Given the description of an element on the screen output the (x, y) to click on. 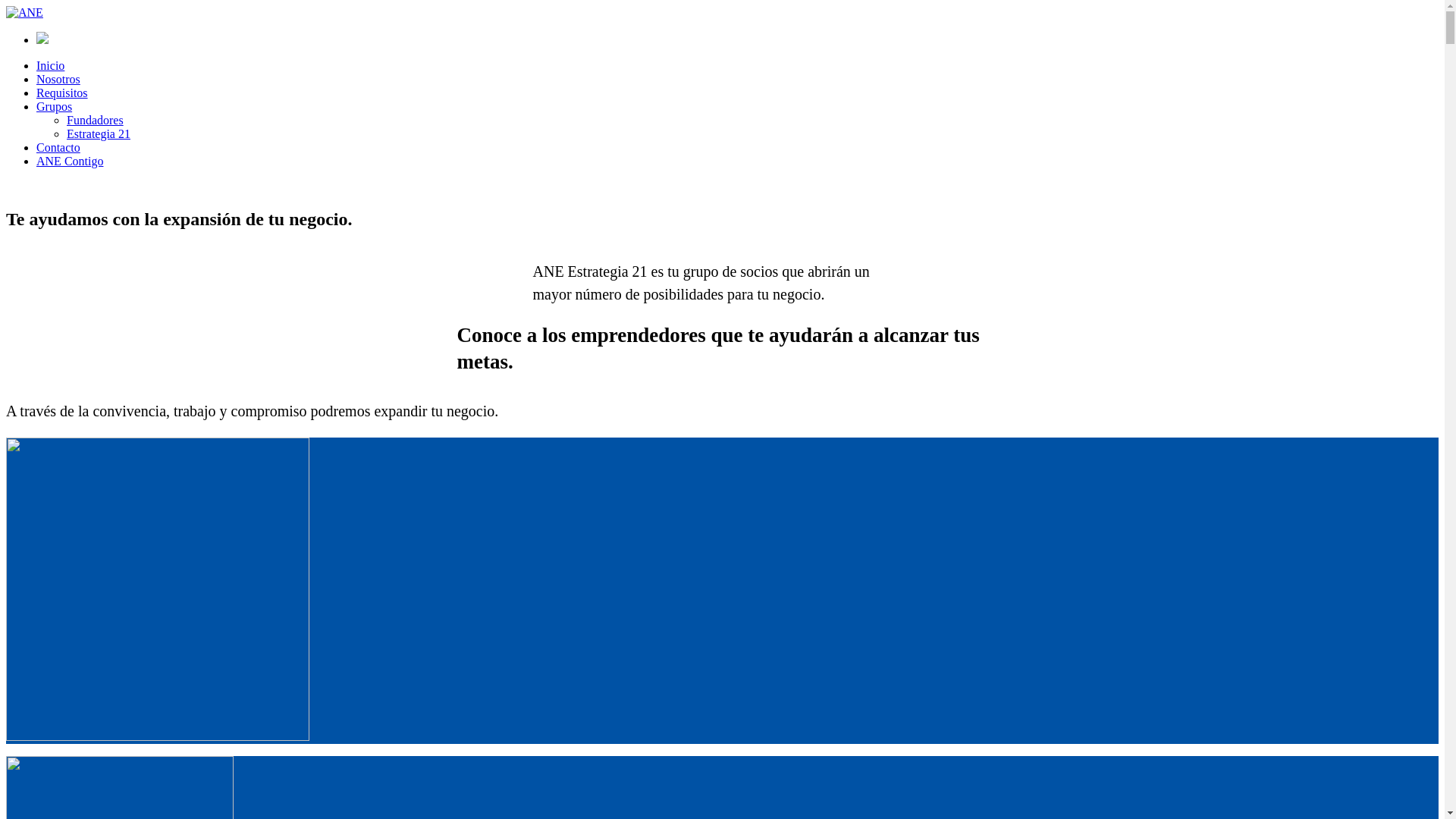
Estrategia 21 Element type: text (98, 133)
ANE Element type: hover (24, 12)
ANE Contigo Element type: text (69, 160)
Grupos Element type: text (54, 106)
Contacto Element type: text (58, 147)
Fundadores Element type: text (94, 119)
Requisitos Element type: text (61, 92)
Home Element type: text (20, 186)
Inicio Element type: text (50, 65)
Nosotros Element type: text (58, 78)
